Given the description of an element on the screen output the (x, y) to click on. 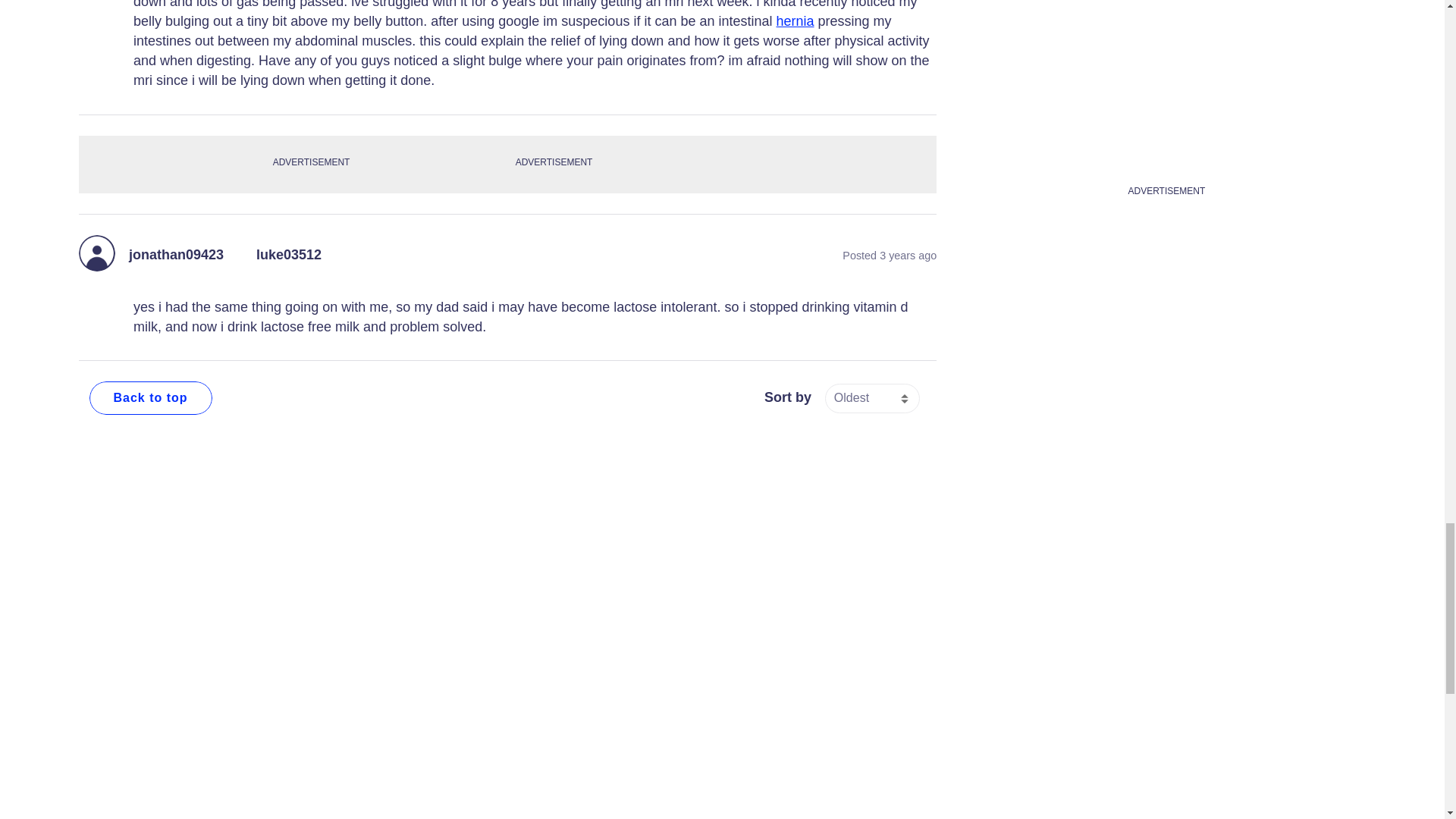
Back to top (150, 397)
View jonathan09423's profile (176, 255)
Back to top (150, 397)
jonathan09423 (176, 255)
luke03512 (288, 255)
hernia (794, 20)
